Given the description of an element on the screen output the (x, y) to click on. 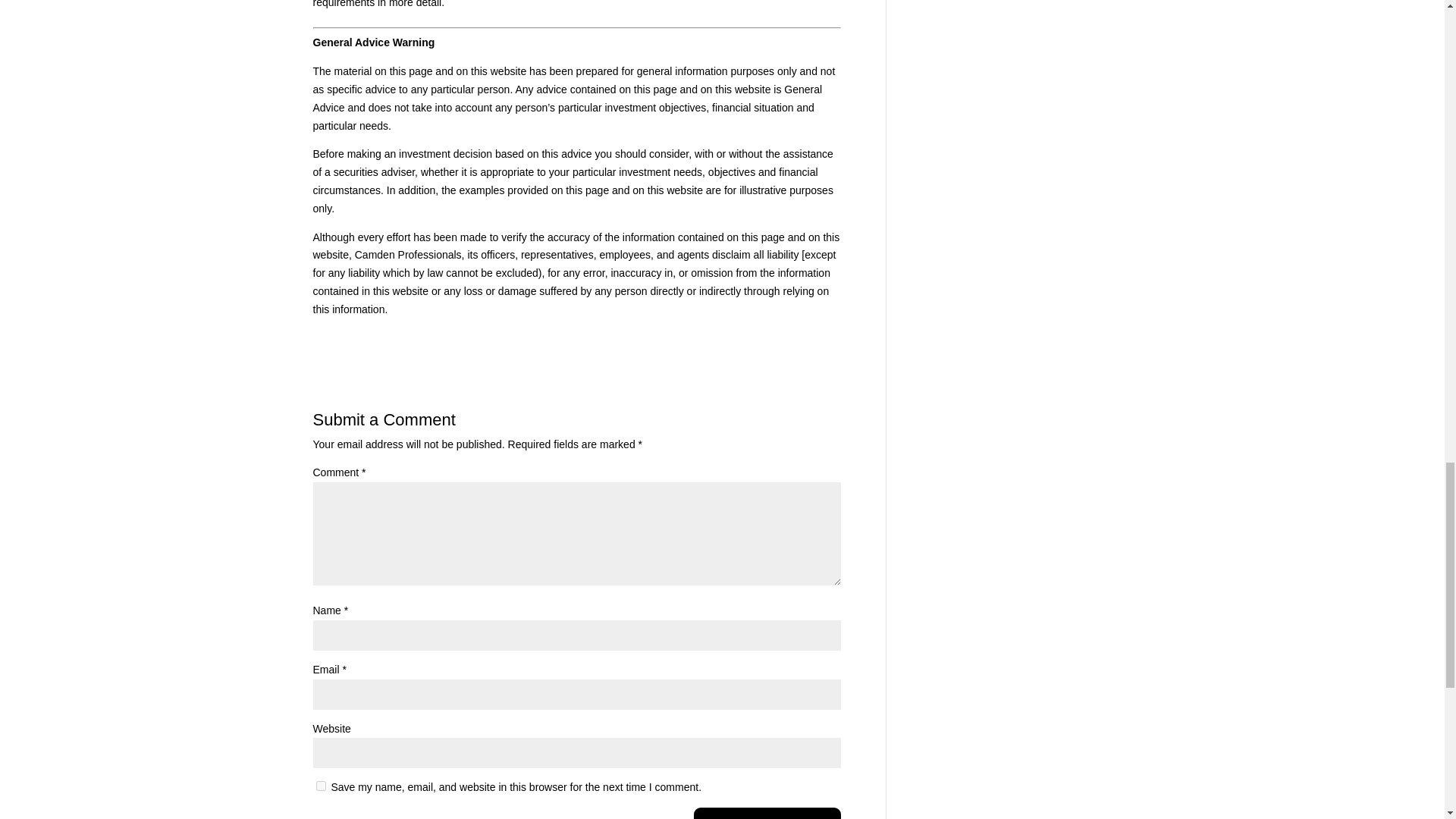
yes (319, 786)
Submit Comment (767, 813)
Submit Comment (767, 813)
